Given the description of an element on the screen output the (x, y) to click on. 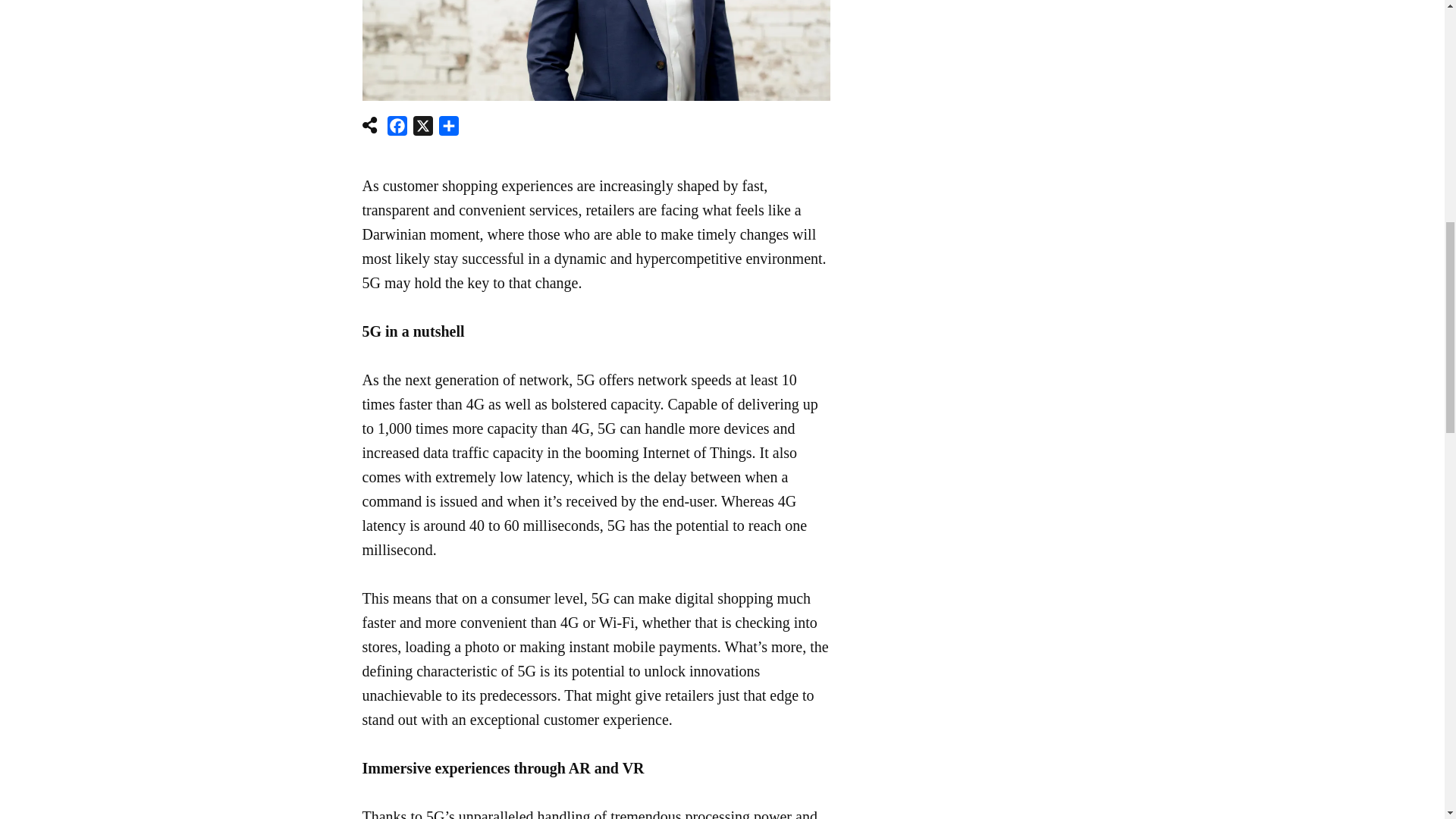
3rd party ad content (722, 45)
X (422, 128)
Facebook (397, 128)
